Given the description of an element on the screen output the (x, y) to click on. 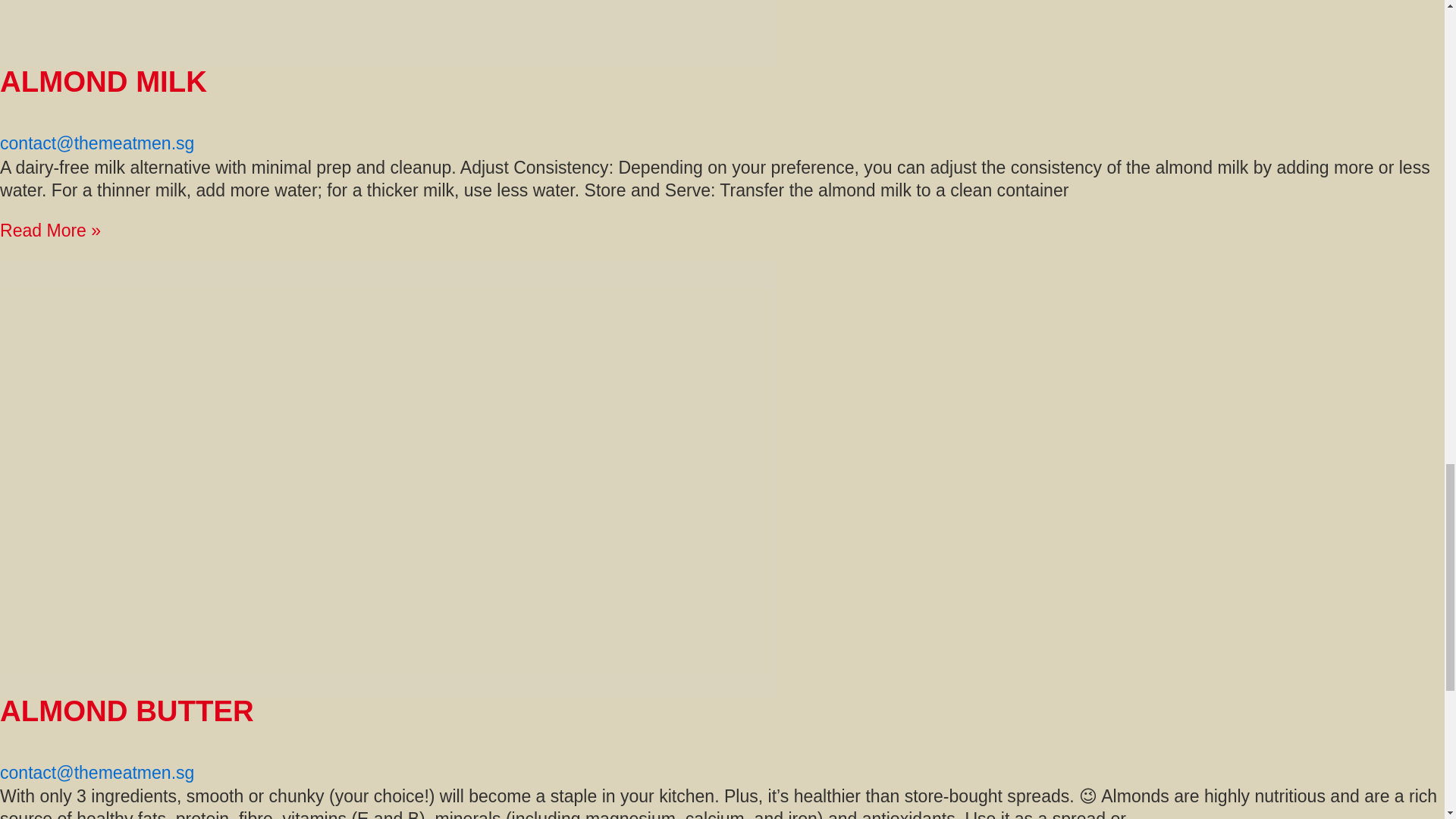
ALMOND BUTTER (126, 710)
ALMOND MILK (103, 81)
